Given the description of an element on the screen output the (x, y) to click on. 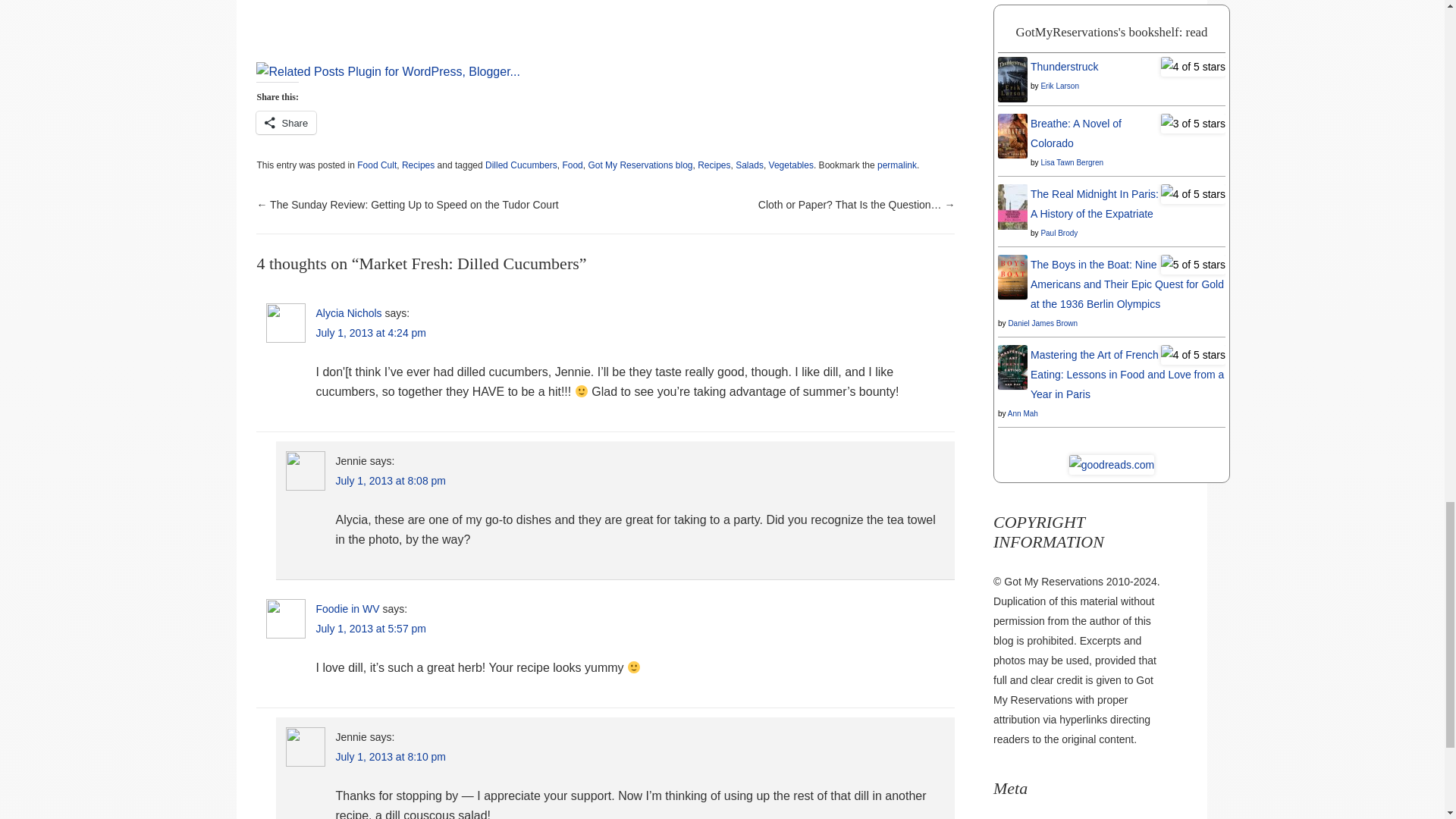
Permalink to Market Fresh: Dilled Cucumbers (897, 164)
Share (285, 122)
